Given the description of an element on the screen output the (x, y) to click on. 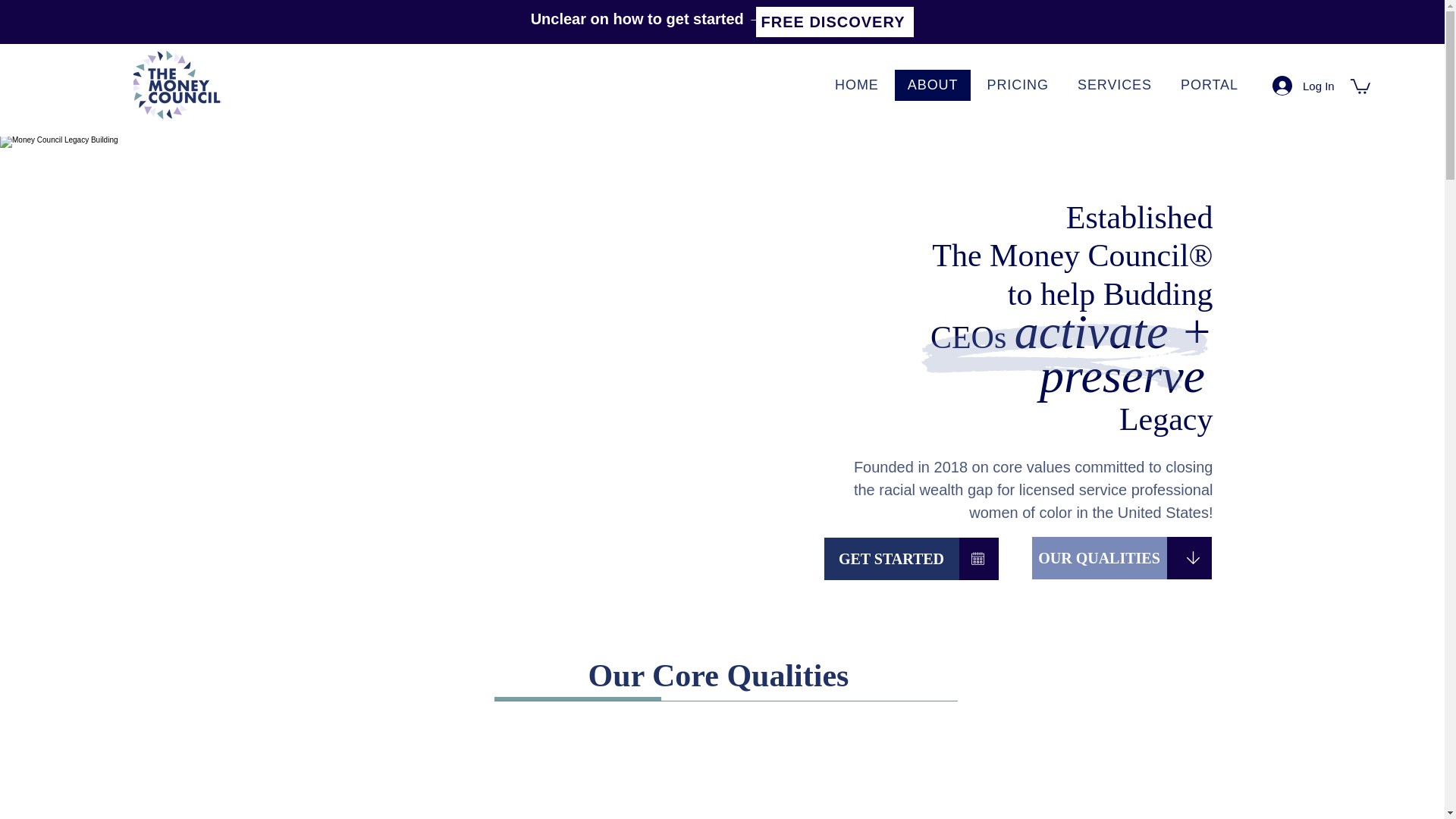
OUR QUALITIES (1098, 558)
Log In (1294, 85)
ABOUT (933, 84)
HOME (856, 84)
PRICING (1017, 84)
FREE DISCOVERY (833, 21)
Money Council (177, 83)
GET STARTED (891, 558)
